Given the description of an element on the screen output the (x, y) to click on. 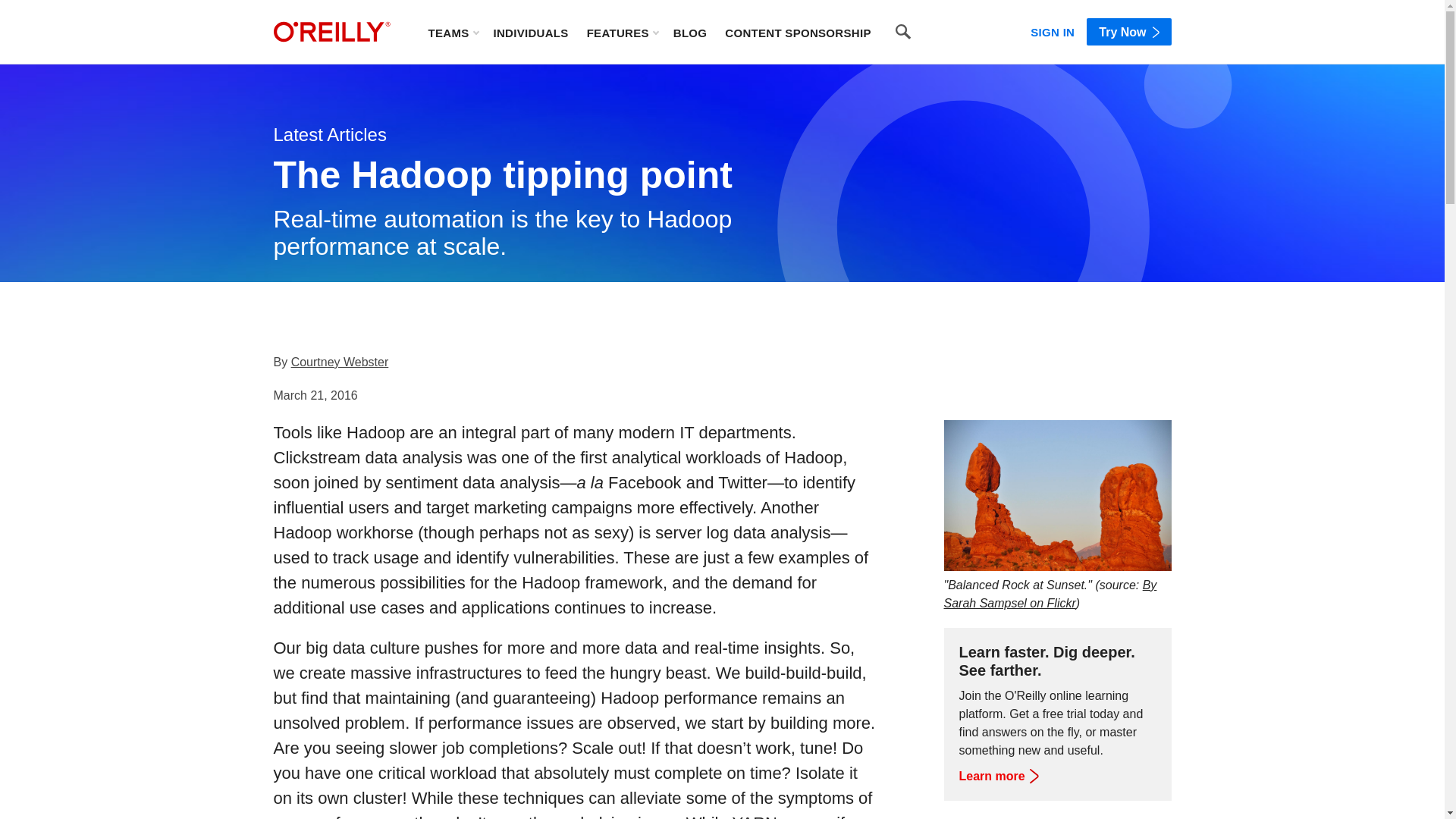
FEATURES (622, 31)
INDIVIDUALS (530, 31)
By Sarah Sampsel on Flickr (1049, 593)
Courtney Webster (339, 361)
Learn more (997, 775)
home page (331, 31)
Try Now (1128, 31)
CONTENT SPONSORSHIP (797, 31)
Latest Articles (329, 134)
BLOG (689, 31)
TEAMS (452, 31)
SIGN IN (1052, 29)
Search (903, 31)
